Given the description of an element on the screen output the (x, y) to click on. 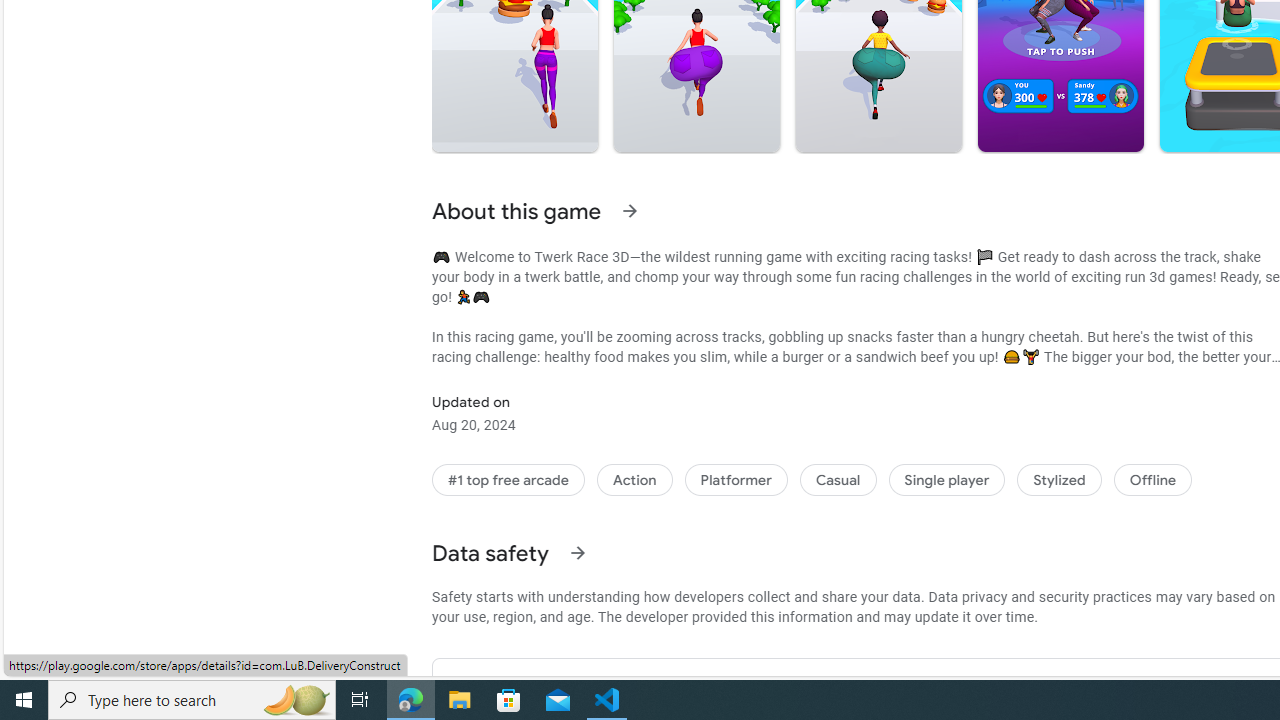
#1 top free arcade (507, 479)
Platformer (735, 480)
Action (634, 480)
Single player (946, 480)
See more information on About this game (629, 210)
See more information on Data safety (576, 552)
Casual (837, 480)
Offline (1152, 480)
Stylized (1059, 480)
